Given the description of an element on the screen output the (x, y) to click on. 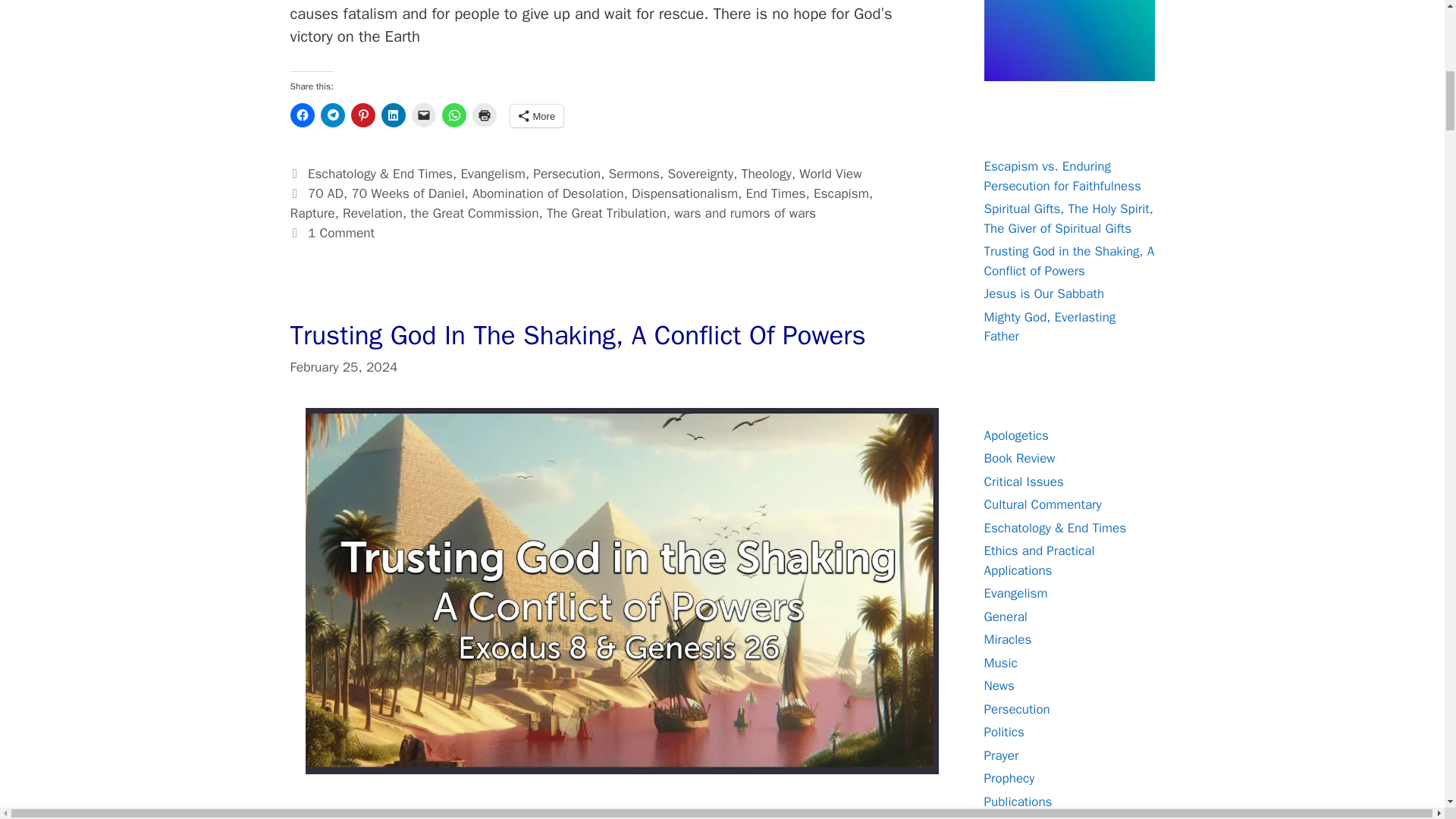
Click to print (483, 115)
Click to email a link to a friend (422, 115)
Click to share on Pinterest (362, 115)
Click to share on WhatsApp (453, 115)
Click to share on LinkedIn (392, 115)
Click to share on Facebook (301, 115)
Click to share on Telegram (331, 115)
